Given the description of an element on the screen output the (x, y) to click on. 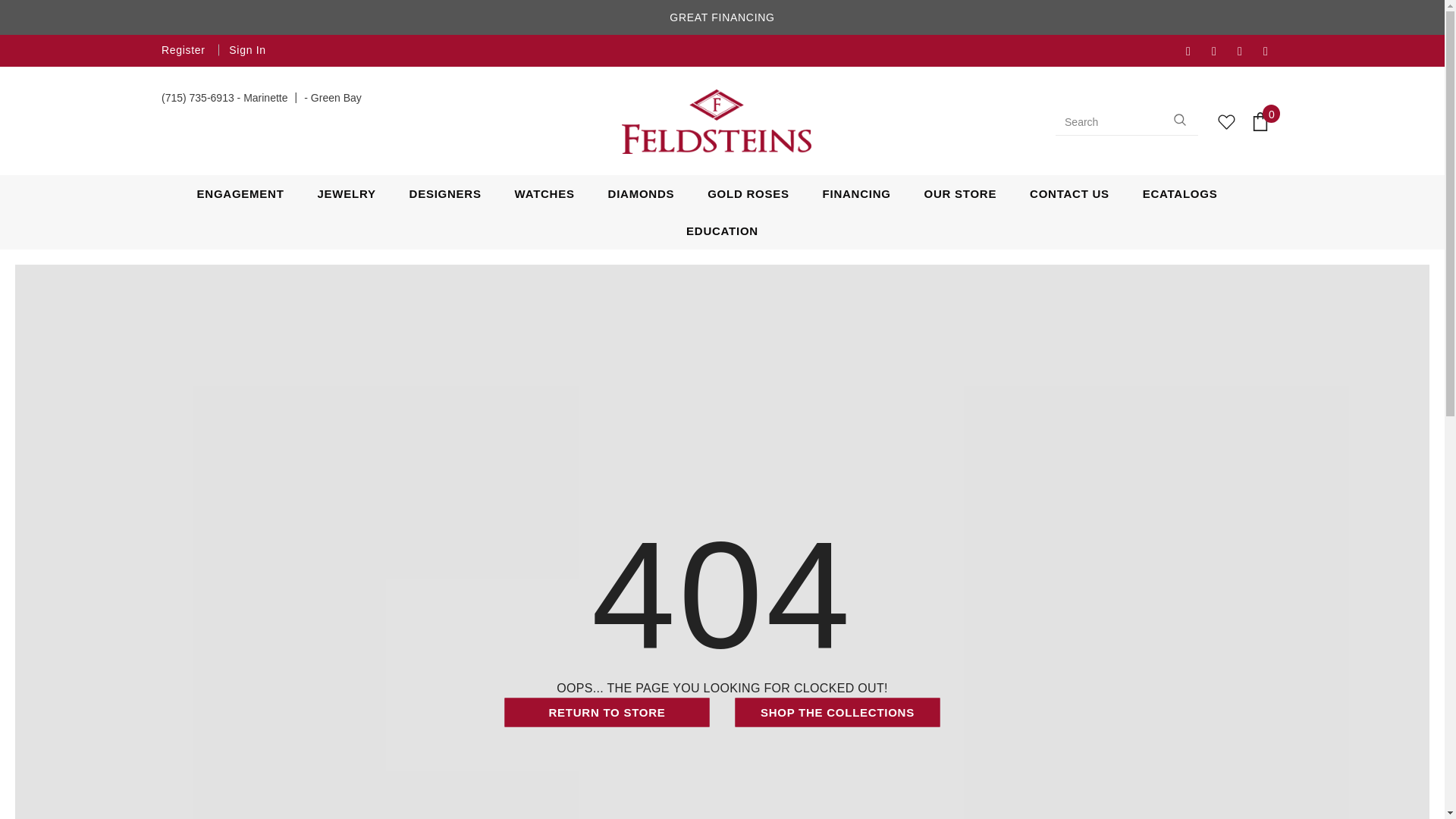
Register (184, 50)
Instagram (1246, 51)
Sign In (242, 50)
GREAT FINANCING (721, 17)
Facebook (1195, 51)
Twitter (1220, 51)
Pinterest (1272, 51)
